Given the description of an element on the screen output the (x, y) to click on. 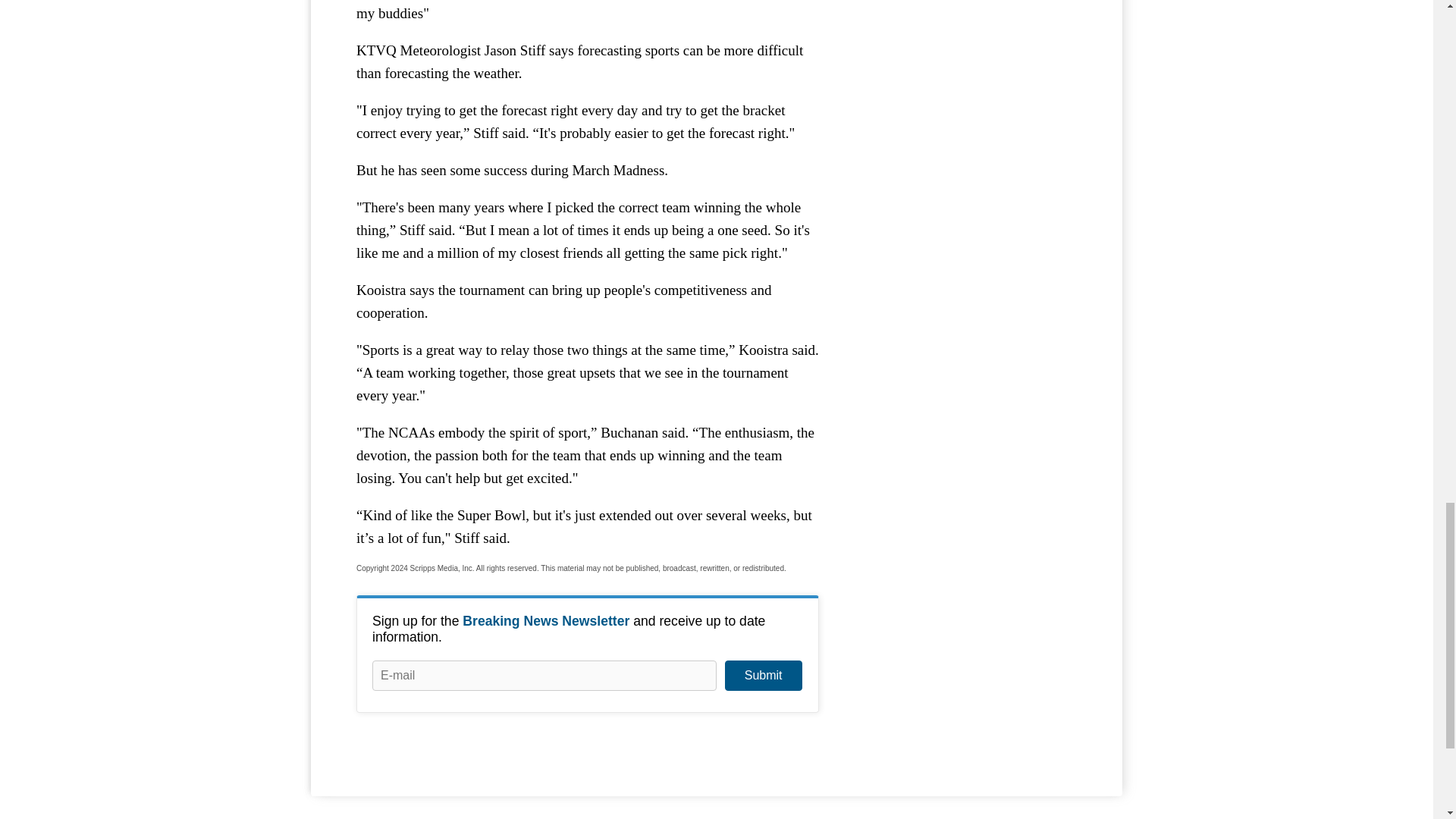
Submit (763, 675)
